Given the description of an element on the screen output the (x, y) to click on. 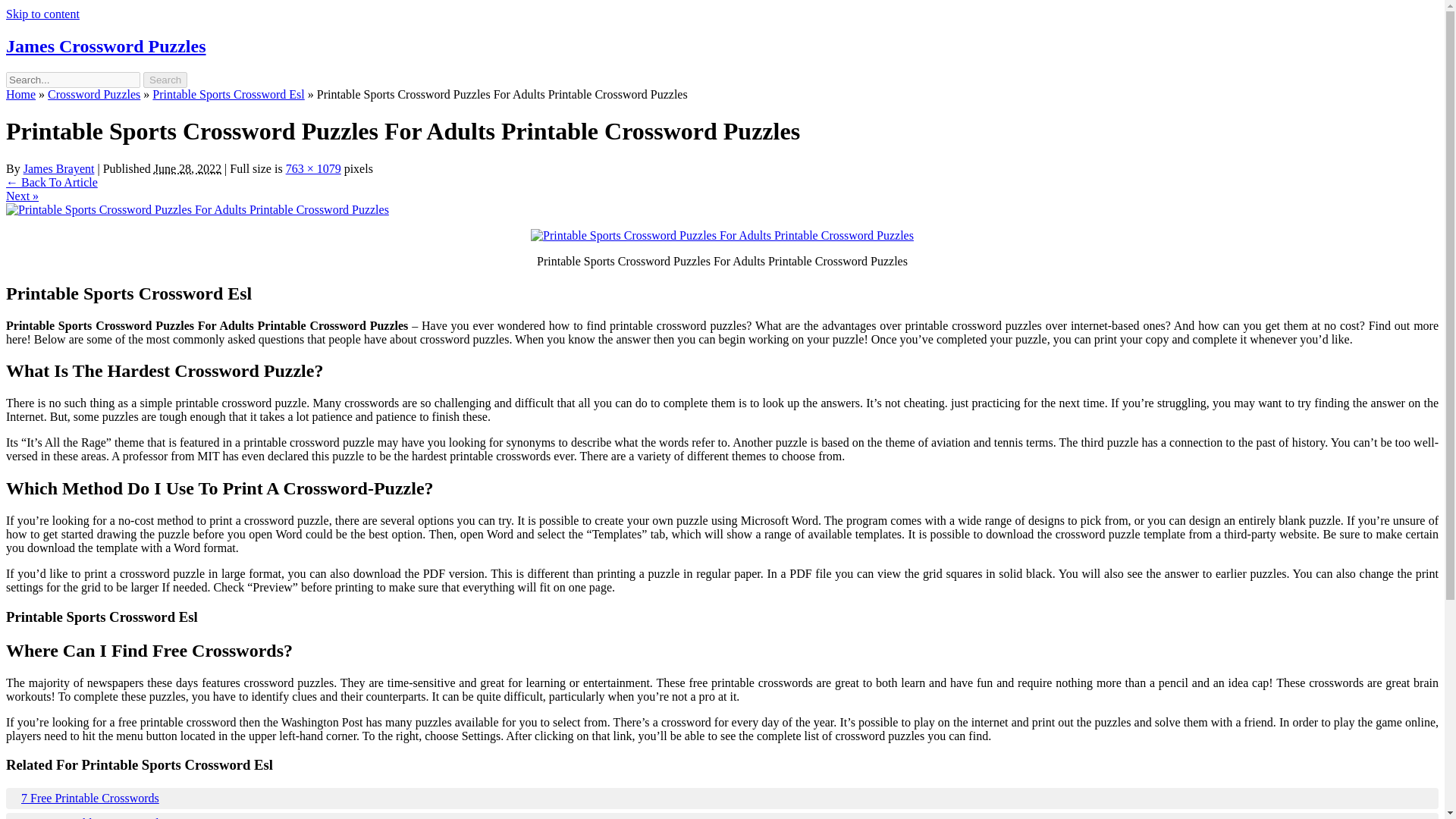
Search (164, 79)
Link to full-size image (312, 168)
Crossword Puzzles (93, 93)
Return to Printable Sports Crossword Esl (51, 182)
Search (164, 79)
7 Free Printable Crosswords (722, 798)
12:52 am (187, 168)
Search for: (72, 79)
James Brayent (58, 168)
View all posts by James Brayent (58, 168)
Home (19, 93)
Printable Sports Crossword Esl (228, 93)
